Given the description of an element on the screen output the (x, y) to click on. 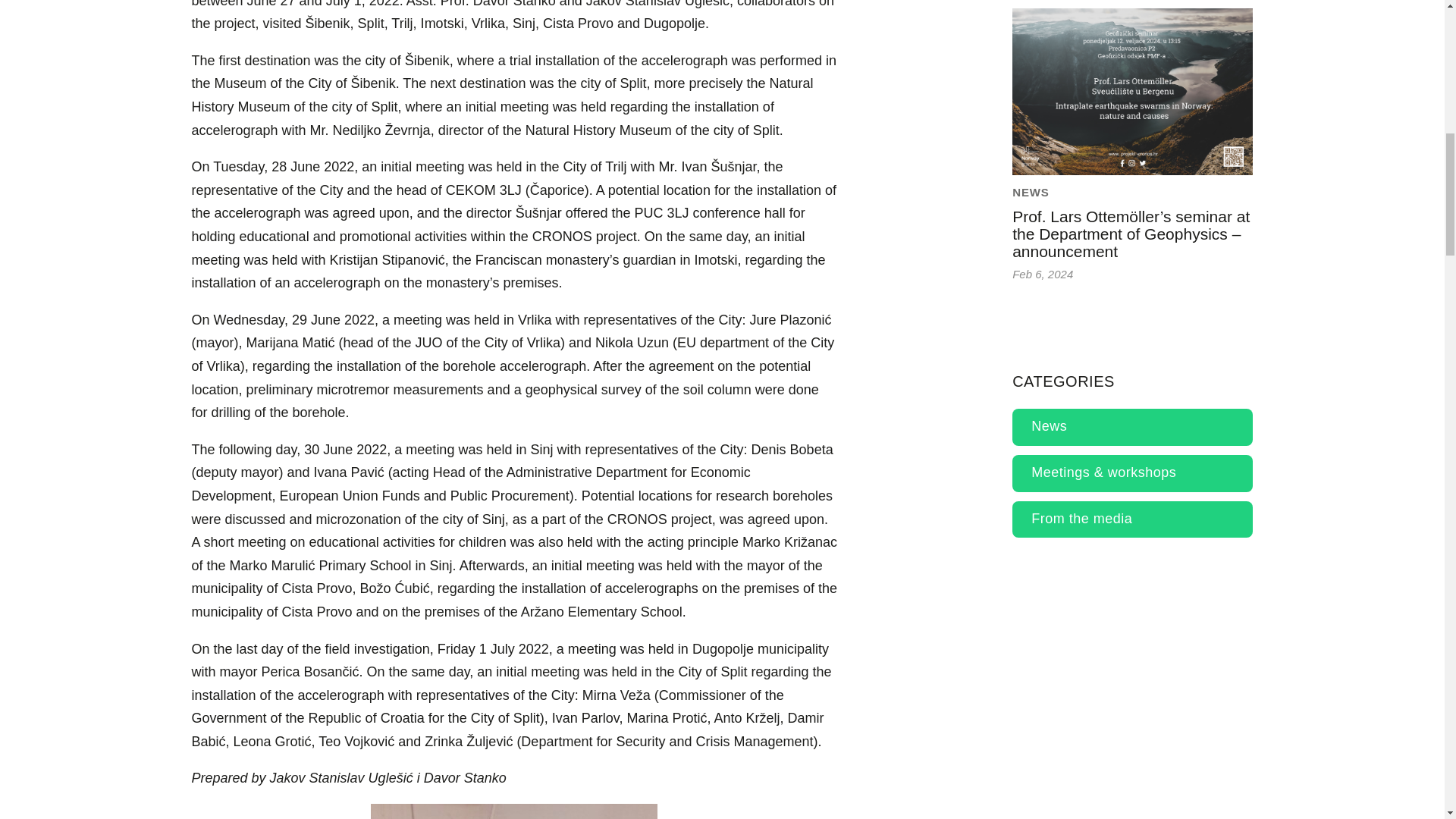
News (1131, 426)
NEWS (1030, 192)
From the media (1131, 519)
